Given the description of an element on the screen output the (x, y) to click on. 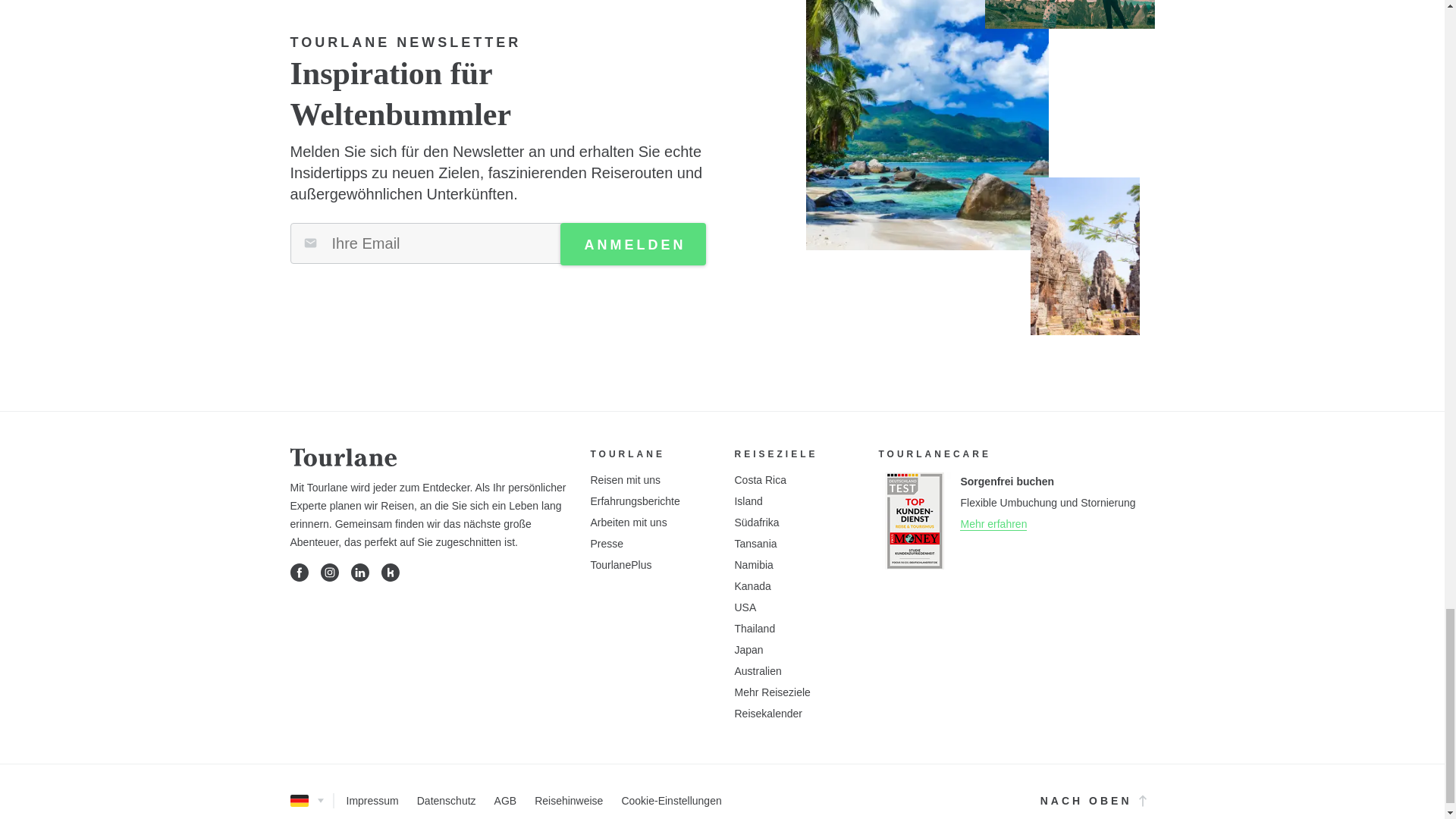
Facebook (298, 572)
Instagram (328, 572)
ANMELDEN (631, 243)
Afrika - Seychellen - Strand mit Palmen (926, 125)
LinkedIn (359, 572)
